Given the description of an element on the screen output the (x, y) to click on. 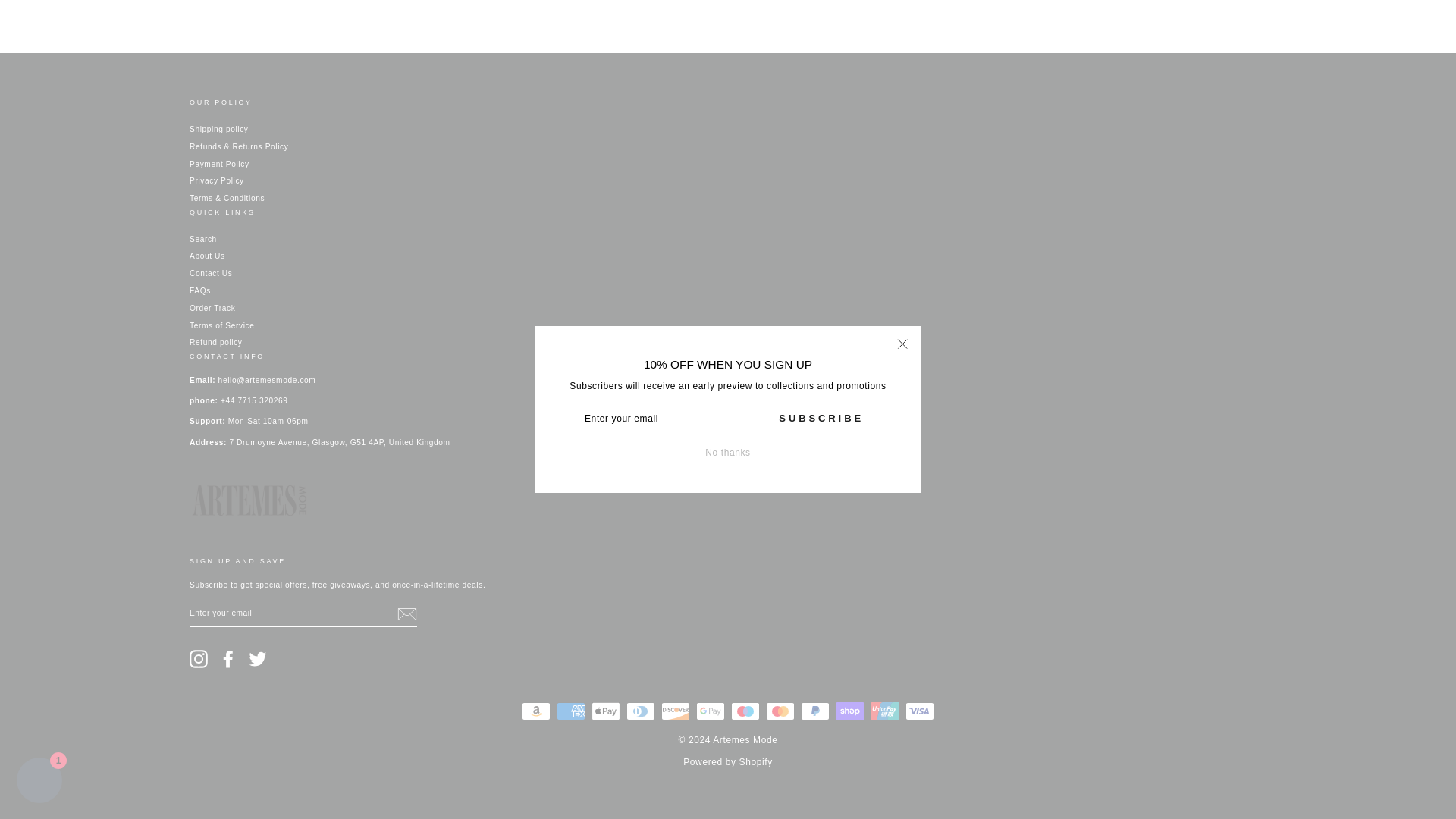
Diners Club (640, 710)
Maestro (745, 710)
Apple Pay (605, 710)
Shop Pay (849, 710)
Amazon (535, 710)
Discover (675, 710)
Google Pay (710, 710)
PayPal (814, 710)
American Express (570, 710)
Mastercard (779, 710)
